Given the description of an element on the screen output the (x, y) to click on. 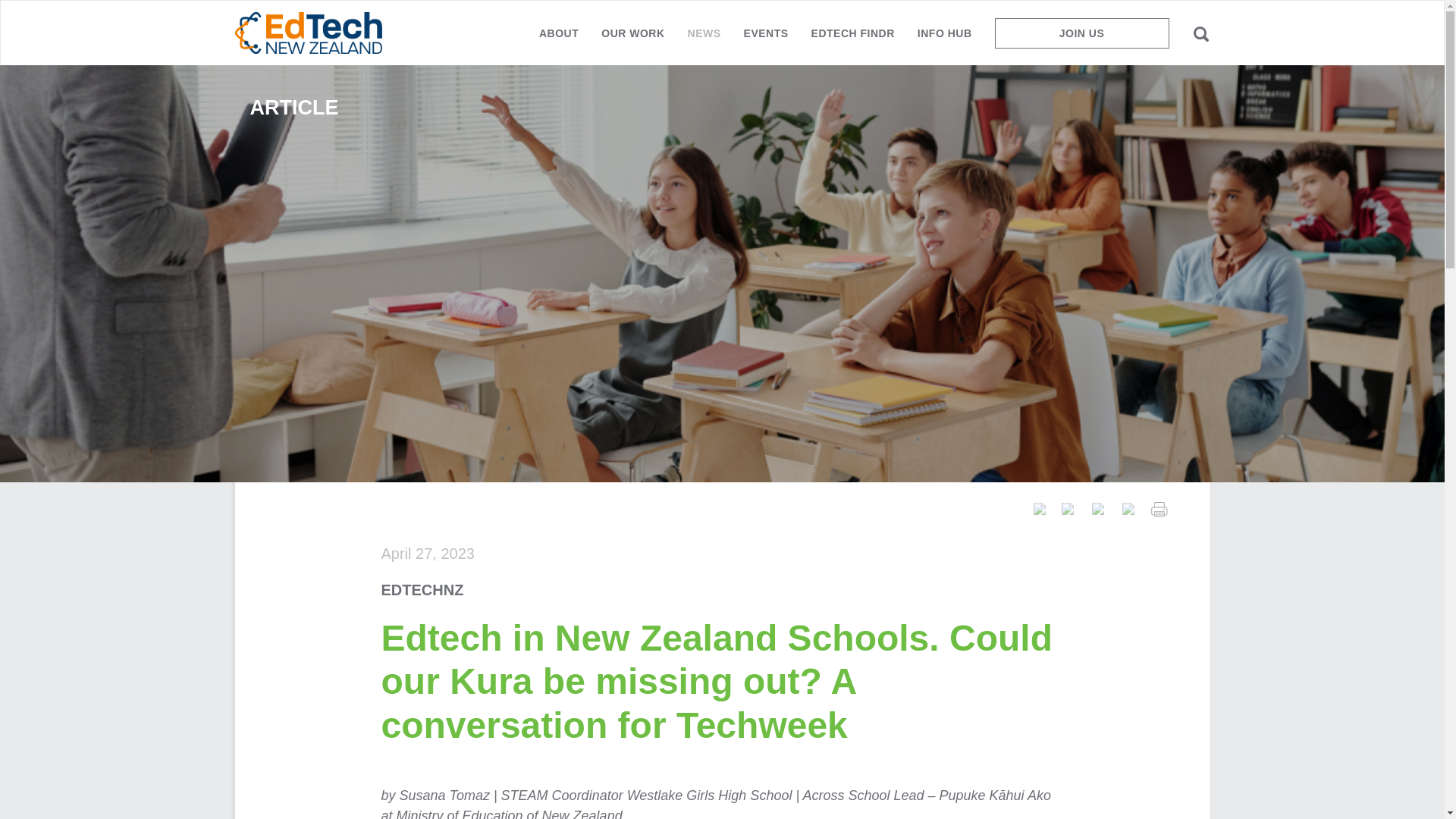
EVENTS (765, 38)
EdTechNZ (308, 33)
Print this page (1158, 508)
ABOUT (558, 38)
INFO HUB (944, 38)
OUR WORK (632, 38)
EDTECH FINDR (852, 38)
JOIN US (1080, 32)
NEWS (704, 38)
